Given the description of an element on the screen output the (x, y) to click on. 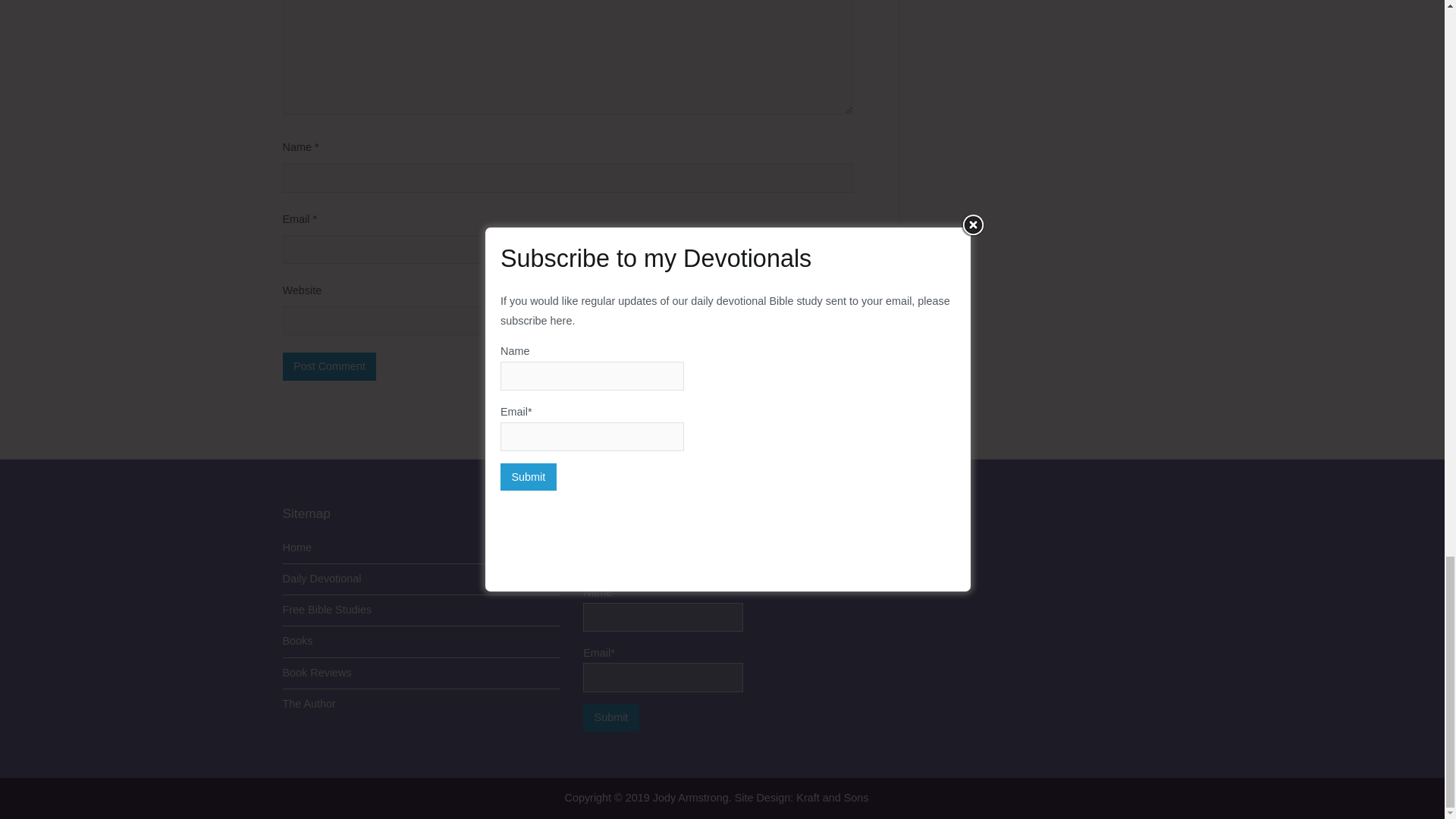
Daily Devotional (421, 579)
Submit (611, 717)
Home (421, 547)
Post Comment (328, 366)
Post Comment (328, 366)
Jody Armstrong (690, 797)
